Given the description of an element on the screen output the (x, y) to click on. 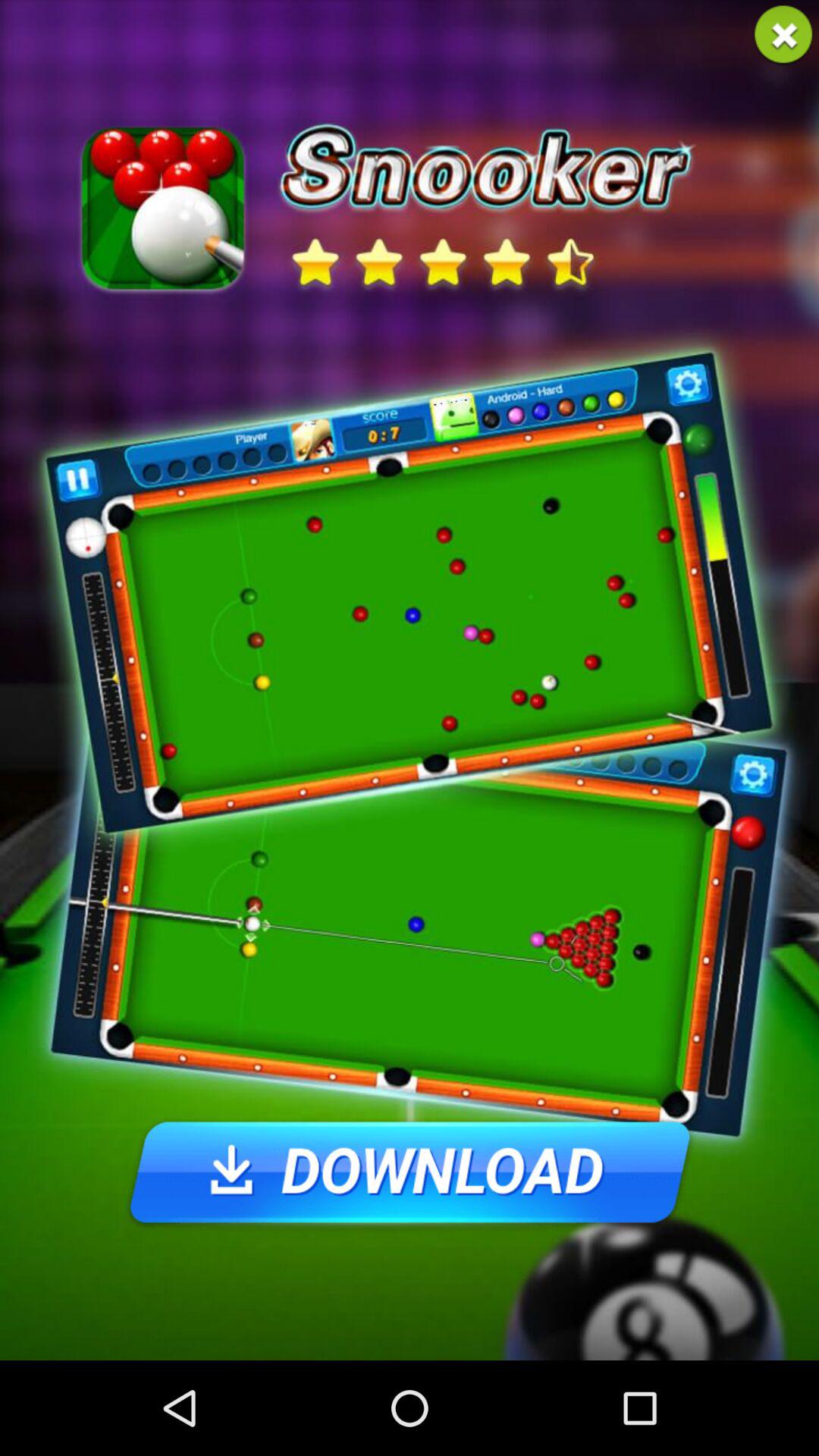
close open popup (783, 35)
